Given the description of an element on the screen output the (x, y) to click on. 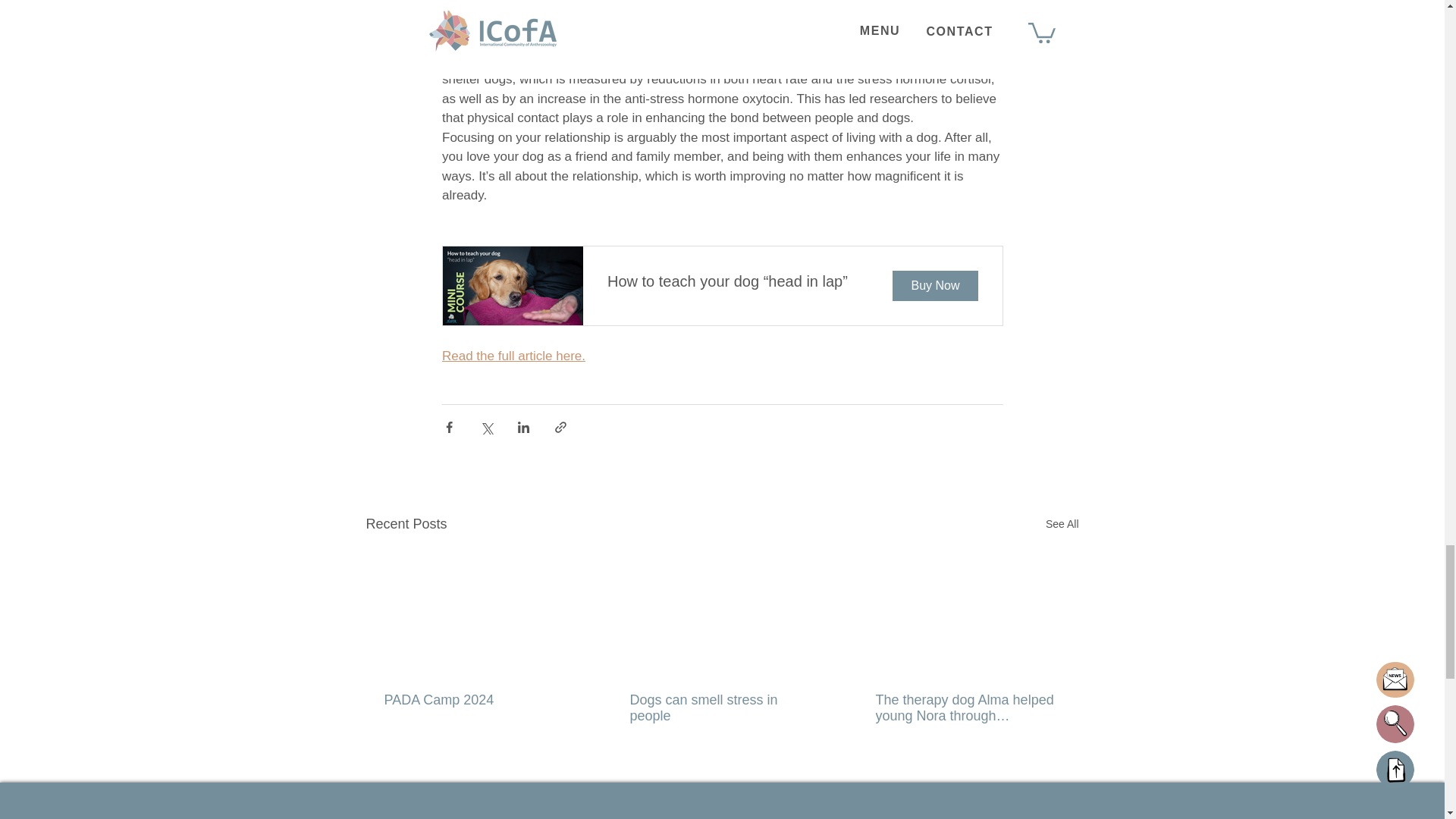
Read the full article here. (513, 355)
